Given the description of an element on the screen output the (x, y) to click on. 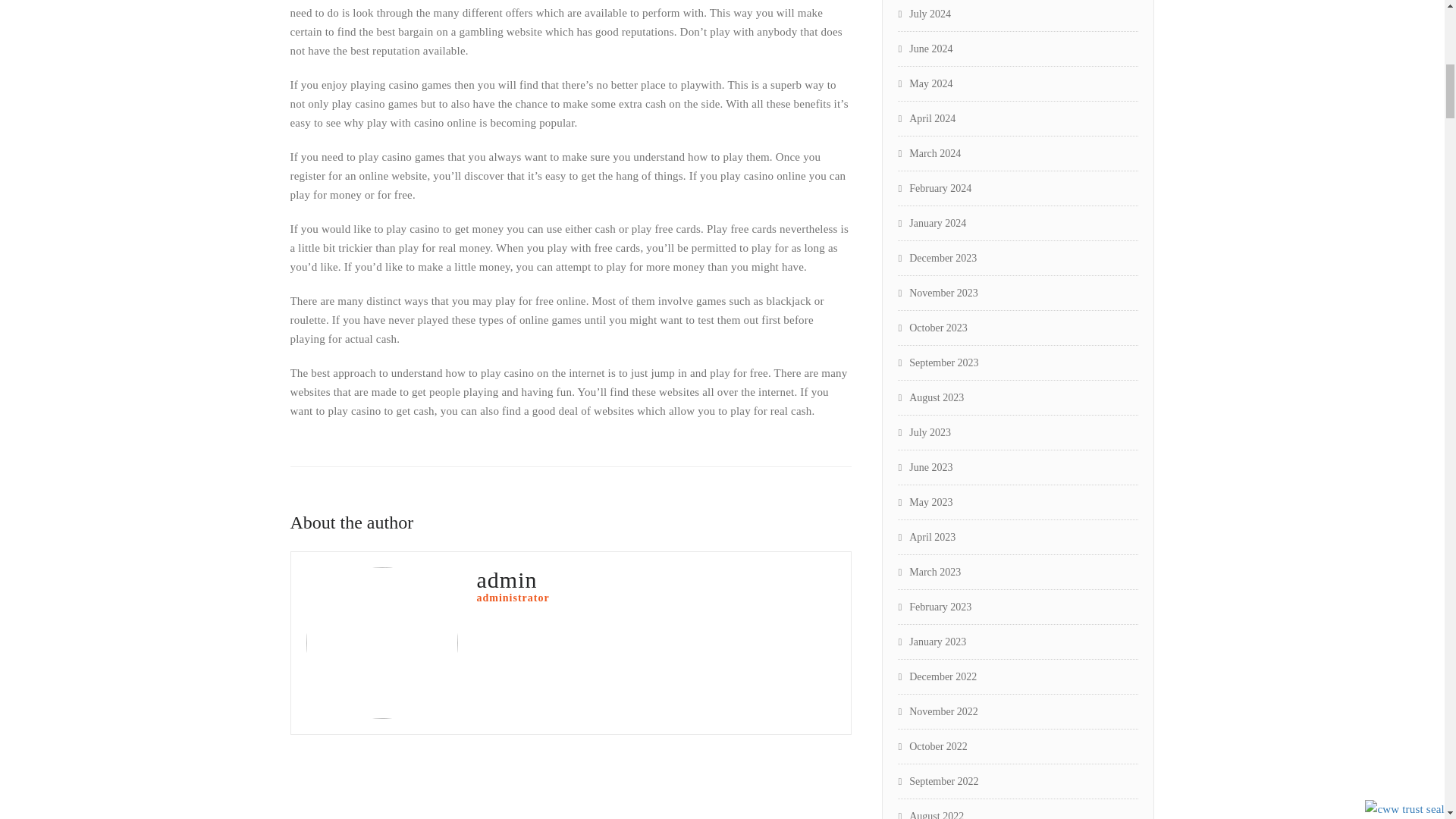
February 2023 (935, 606)
December 2023 (937, 257)
August 2023 (930, 397)
October 2023 (933, 327)
November 2023 (938, 292)
February 2024 (935, 188)
May 2023 (925, 501)
April 2023 (927, 536)
March 2023 (929, 572)
June 2023 (925, 467)
